Given the description of an element on the screen output the (x, y) to click on. 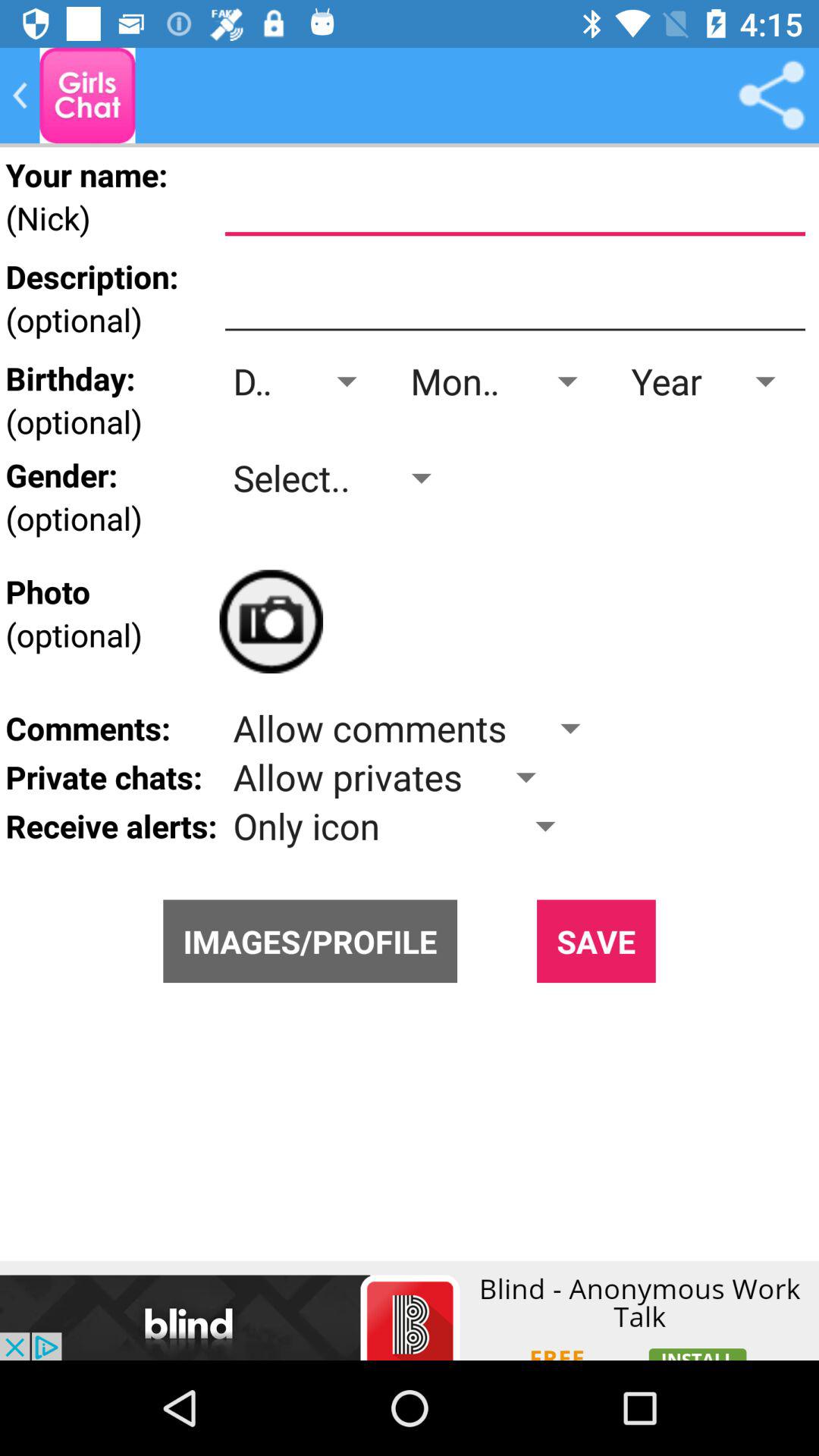
fist name (515, 200)
